Given the description of an element on the screen output the (x, y) to click on. 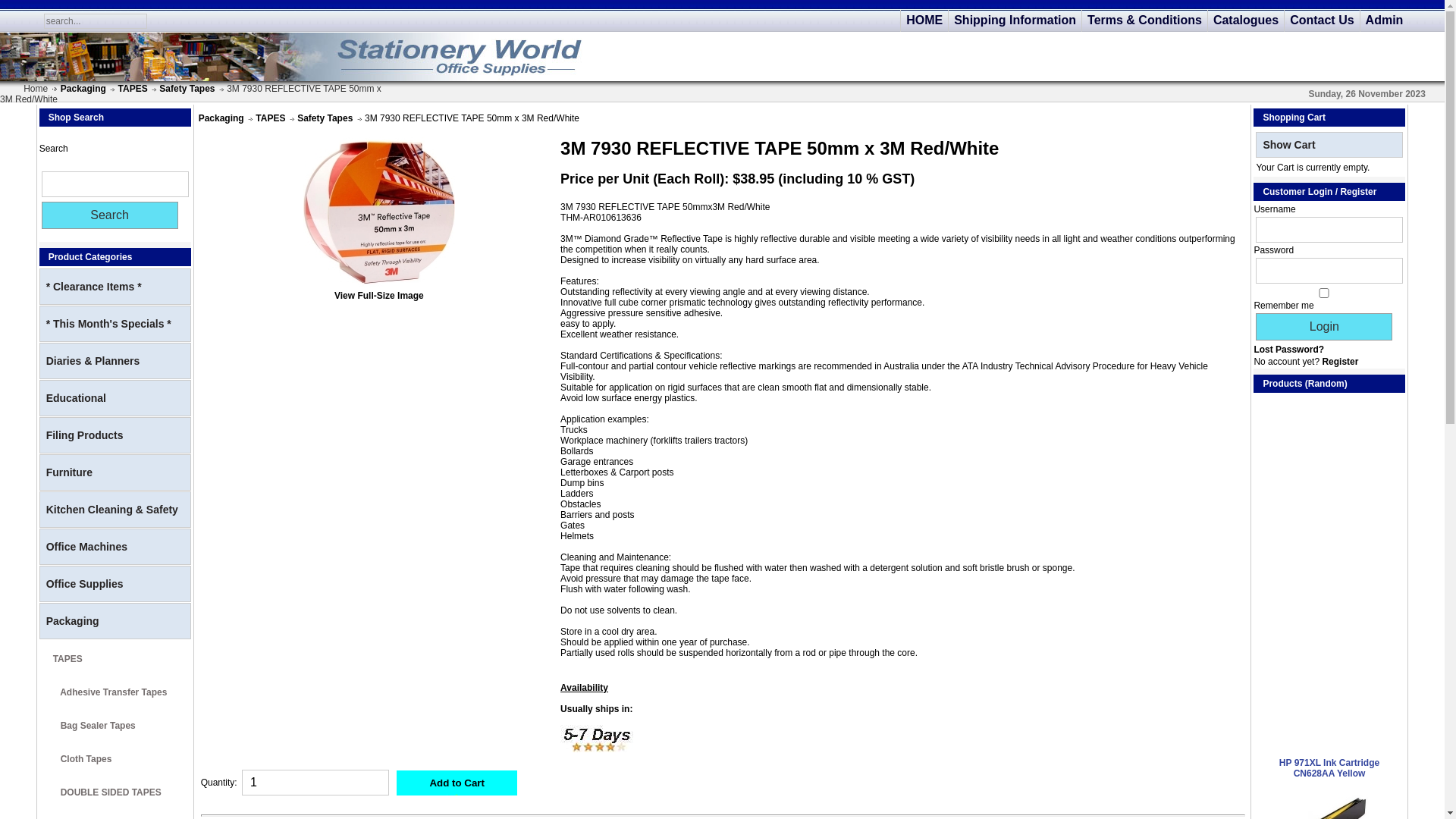
TAPES Element type: text (270, 117)
Admin Element type: text (1384, 19)
Contact Us Element type: text (1321, 19)
Safety Tapes Element type: text (324, 117)
Safety Tapes Element type: text (186, 88)
Packaging Element type: text (221, 117)
Login Element type: text (1323, 326)
Terms & Conditions Element type: text (1144, 19)
Diaries & Planners Element type: text (115, 360)
   TAPES Element type: text (114, 656)
Add to Cart Element type: hover (456, 782)
* This Month's Specials * Element type: text (115, 323)
* Clearance Items * Element type: text (115, 286)
Furniture Element type: text (115, 472)
Lost Password? Element type: text (1288, 349)
Office Supplies Element type: text (115, 583)
Search Element type: text (109, 215)
HOME Element type: text (924, 19)
Office Machines Element type: text (115, 546)
      Bag Sealer Tapes Element type: text (114, 723)
Show Cart Element type: text (1328, 144)
Register Element type: text (1339, 361)
      Cloth Tapes Element type: text (114, 756)
TAPES Element type: text (132, 88)
Educational Element type: text (115, 397)
Catalogues Element type: text (1245, 19)
Kitchen Cleaning & Safety Element type: text (115, 509)
Shipping Information Element type: text (1014, 19)
View Full-Size Image Element type: text (379, 290)
Filing Products Element type: text (115, 435)
      DOUBLE SIDED TAPES Element type: text (114, 790)
Add to Cart Element type: text (456, 782)
      Adhesive Transfer Tapes Element type: text (114, 690)
Packaging Element type: text (83, 88)
Search Element type: hover (114, 184)
Packaging Element type: text (115, 620)
